Given the description of an element on the screen output the (x, y) to click on. 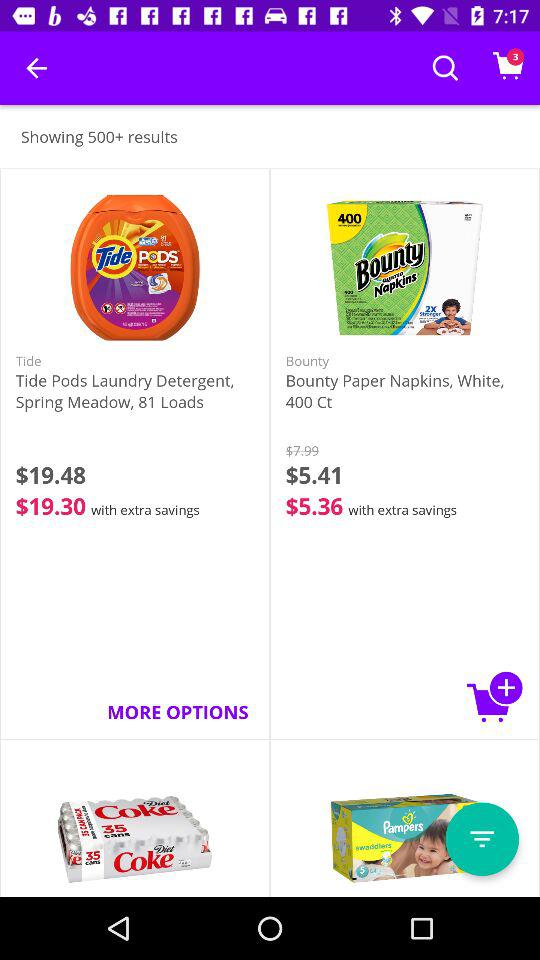
go to overview (482, 839)
